Given the description of an element on the screen output the (x, y) to click on. 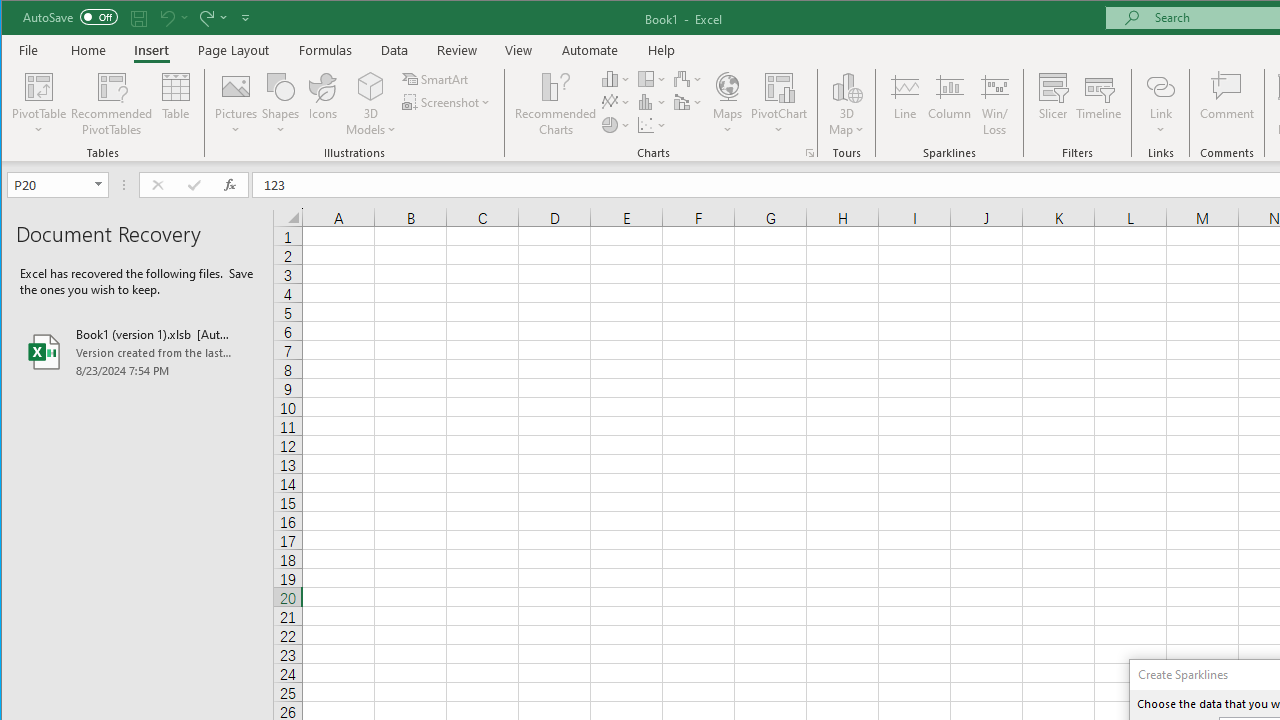
3D Map (846, 86)
PivotTable (39, 86)
Slicer... (1052, 104)
Recommended Charts (809, 152)
Table (175, 104)
Recommended PivotTables (111, 104)
Insert Hierarchy Chart (652, 78)
PivotTable (39, 104)
PivotChart (779, 86)
